Given the description of an element on the screen output the (x, y) to click on. 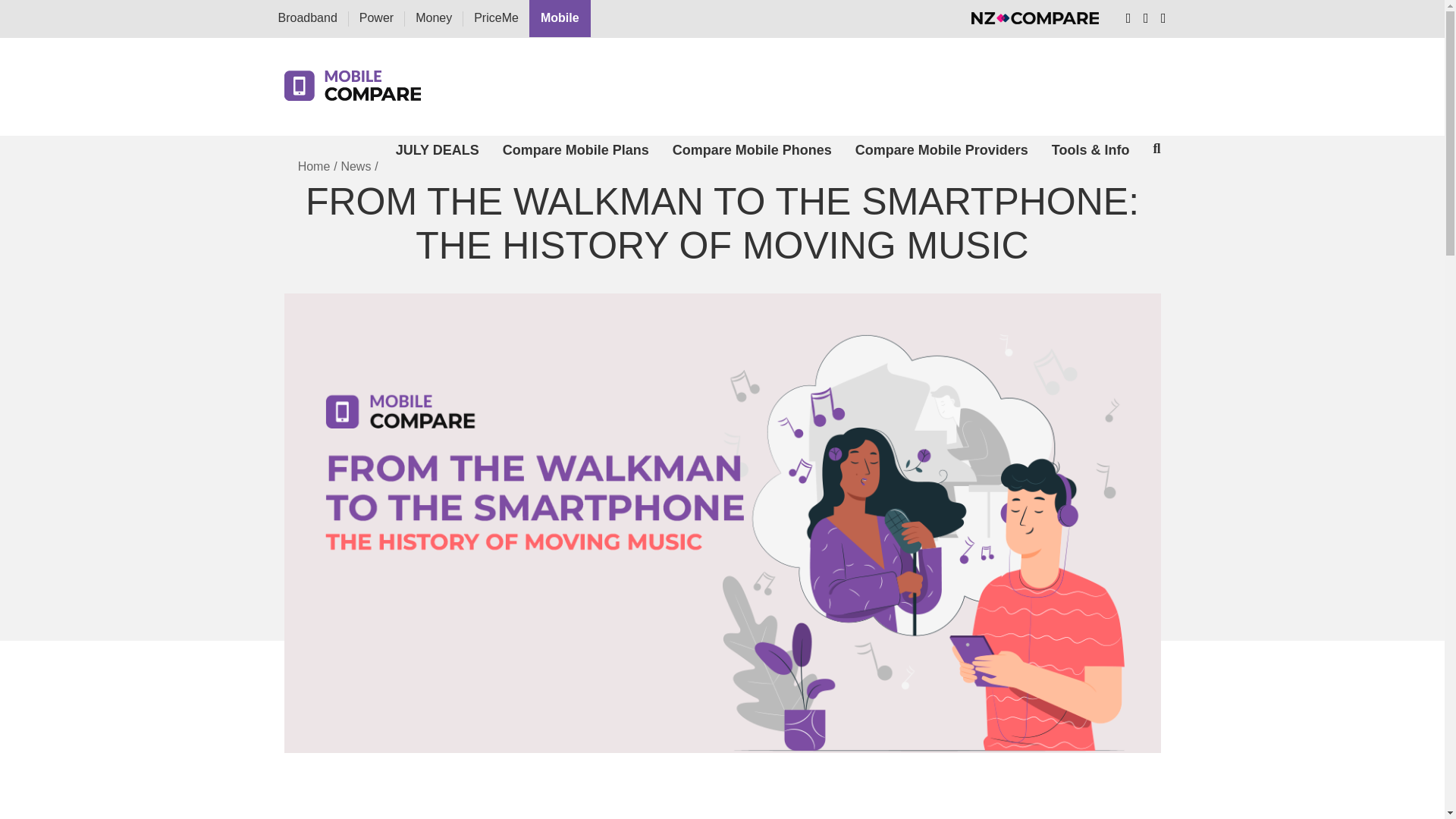
Mobile (559, 18)
PriceMe (496, 18)
Broadband (307, 18)
Money (432, 18)
Power (376, 18)
